Given the description of an element on the screen output the (x, y) to click on. 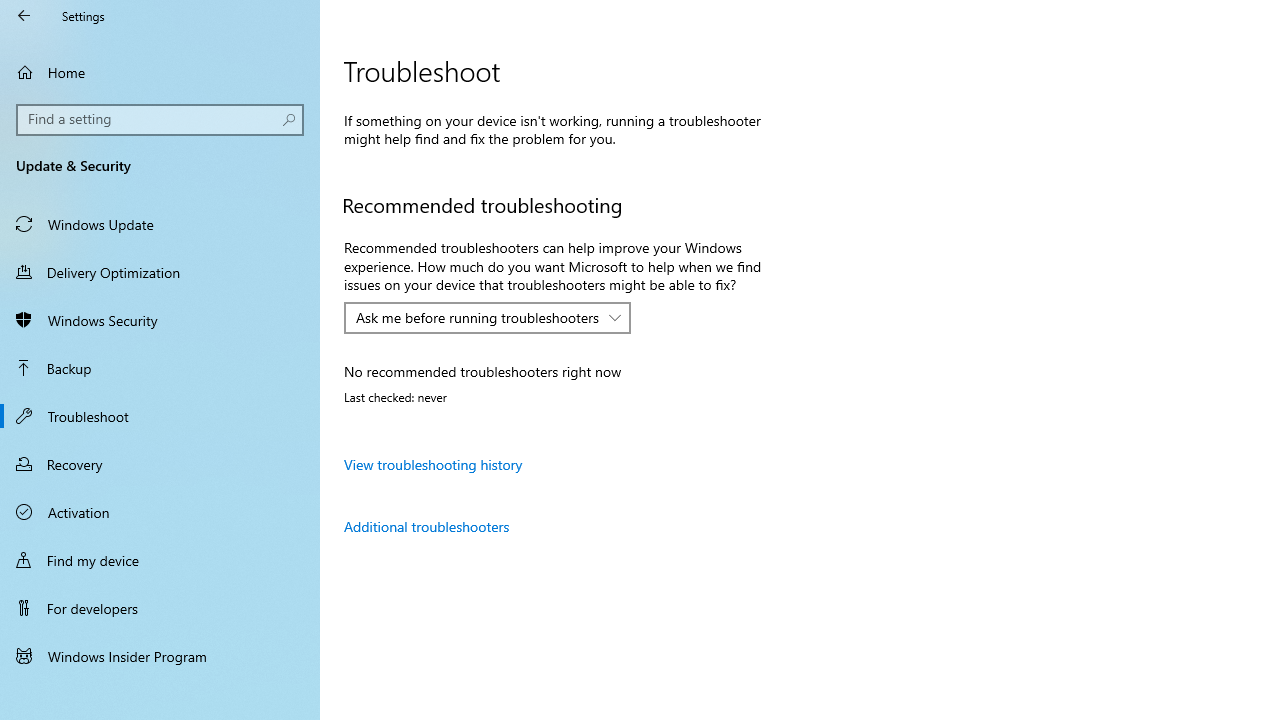
Windows Security (160, 319)
Search box, Find a setting (160, 119)
